Given the description of an element on the screen output the (x, y) to click on. 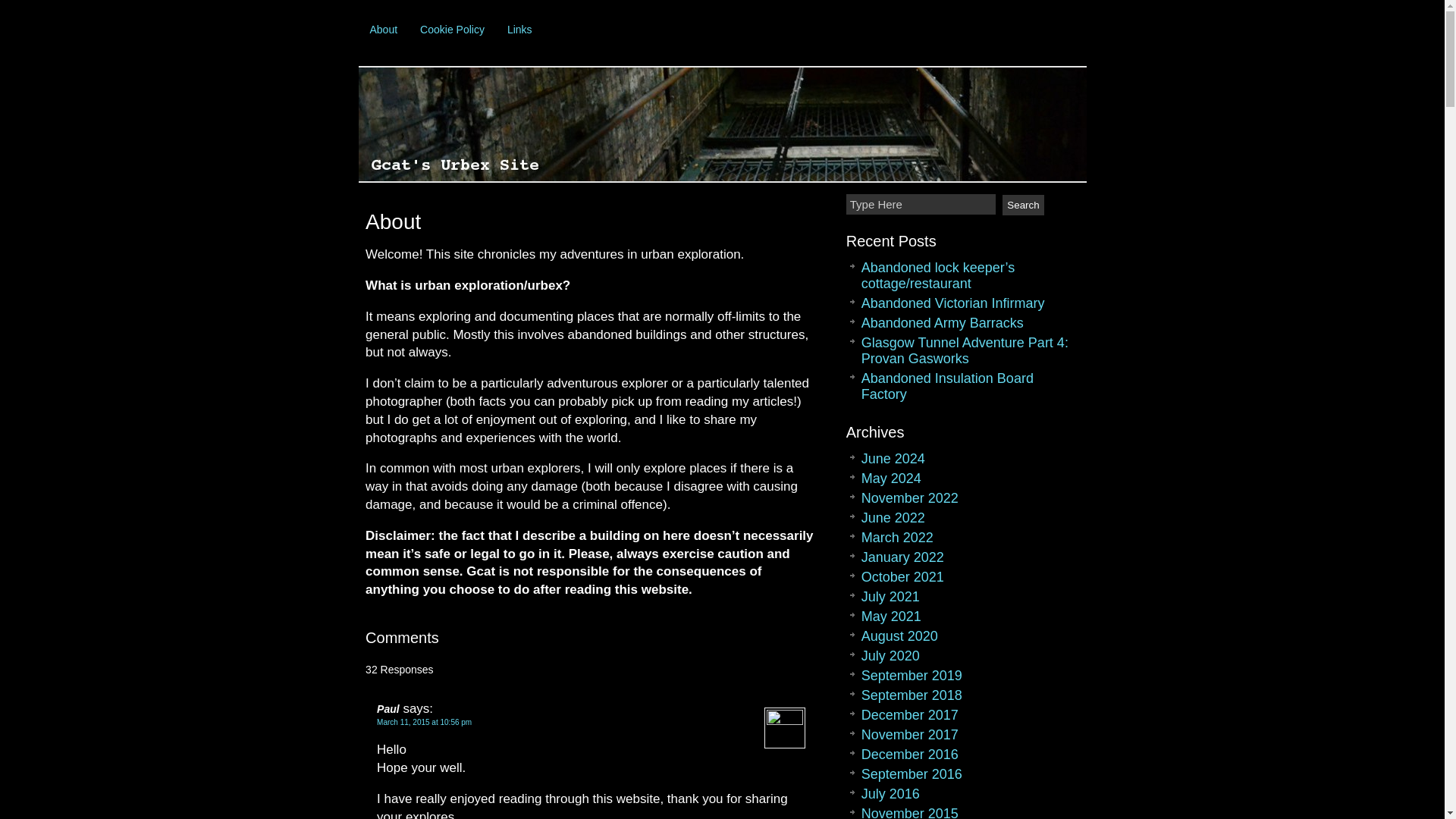
Links (519, 28)
About (383, 28)
March 11, 2015 at 10:56 pm (424, 722)
Cookie Policy (452, 28)
Type Here (920, 204)
Search (1023, 204)
